Given the description of an element on the screen output the (x, y) to click on. 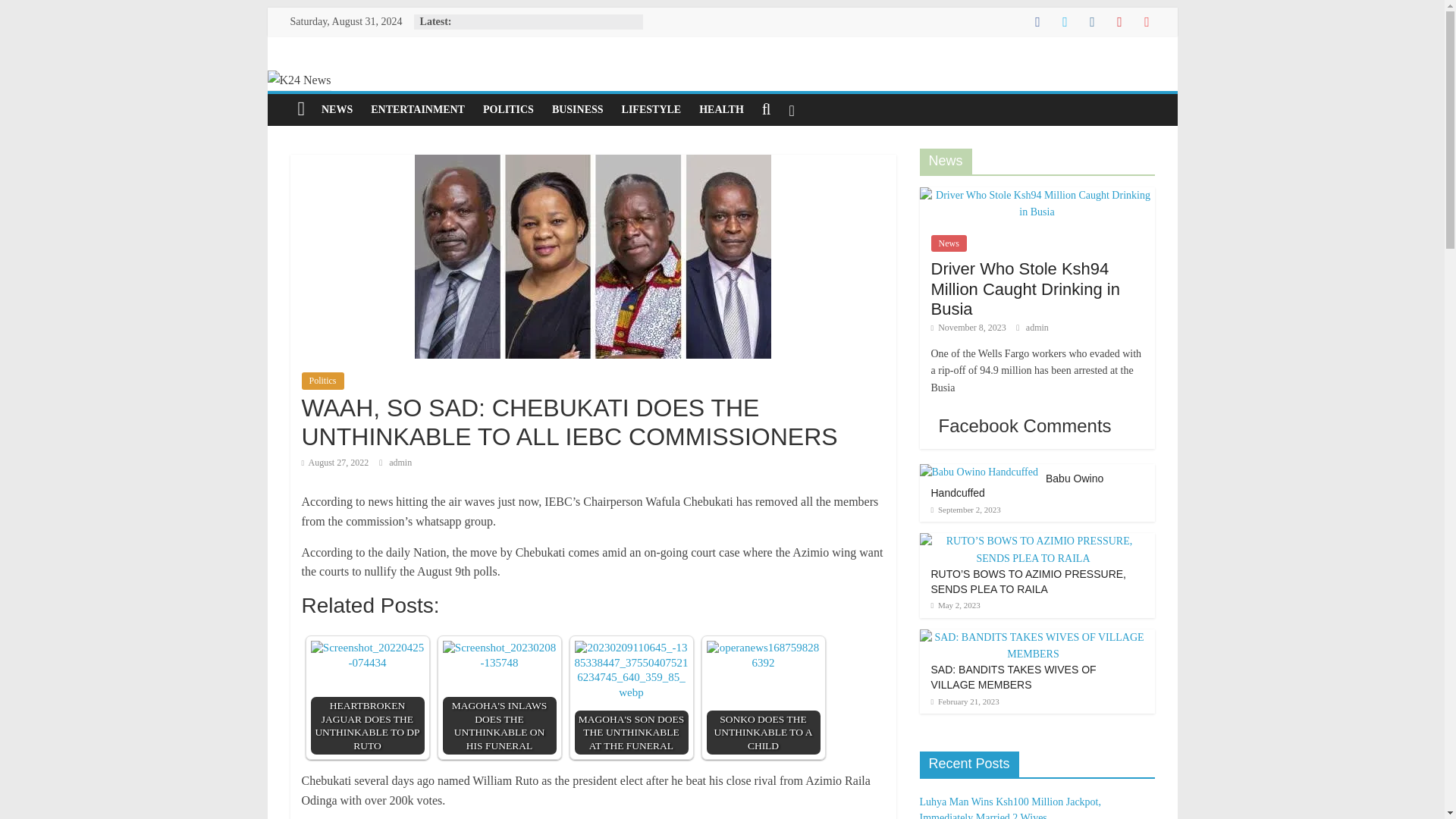
HEARTBROKEN JAGUAR DOES THE UNTHINKABLE TO DP RUTO (368, 655)
SONKO DOES THE UNTHINKABLE TO A CHILD (763, 697)
admin (400, 462)
LIFESTYLE (651, 110)
POLITICS (508, 110)
HEALTH (721, 110)
NEWS (337, 110)
BUSINESS (577, 110)
MAGOHA'S INLAWS DOES THE UNTHINKABLE ON HIS FUNERAL (499, 655)
